Given the description of an element on the screen output the (x, y) to click on. 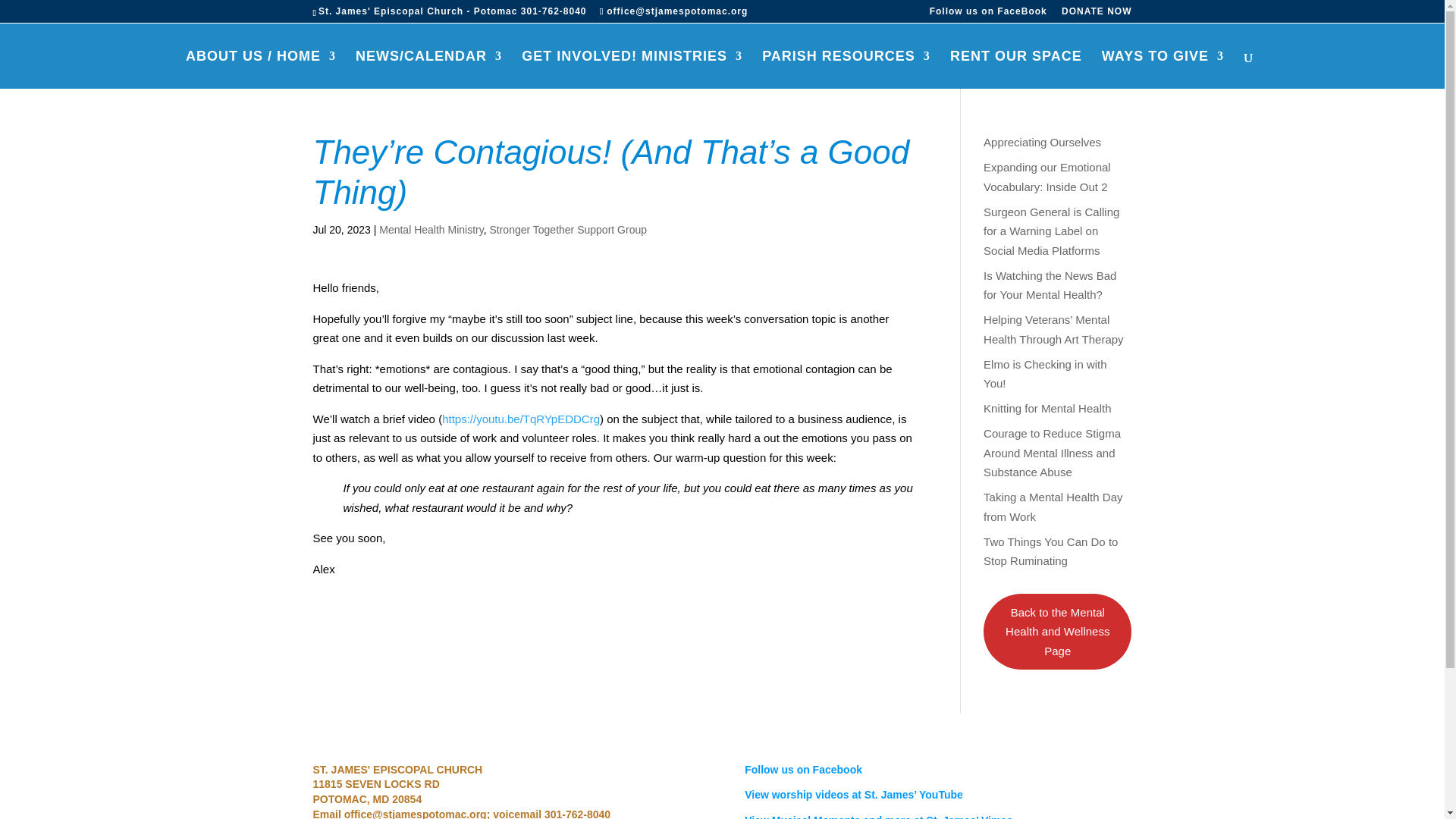
RENT OUR SPACE (1015, 69)
PARISH RESOURCES (845, 69)
Follow us on FaceBook (988, 14)
WAYS TO GIVE (1163, 69)
DONATE NOW (1096, 14)
GET INVOLVED! MINISTRIES (631, 69)
